Given the description of an element on the screen output the (x, y) to click on. 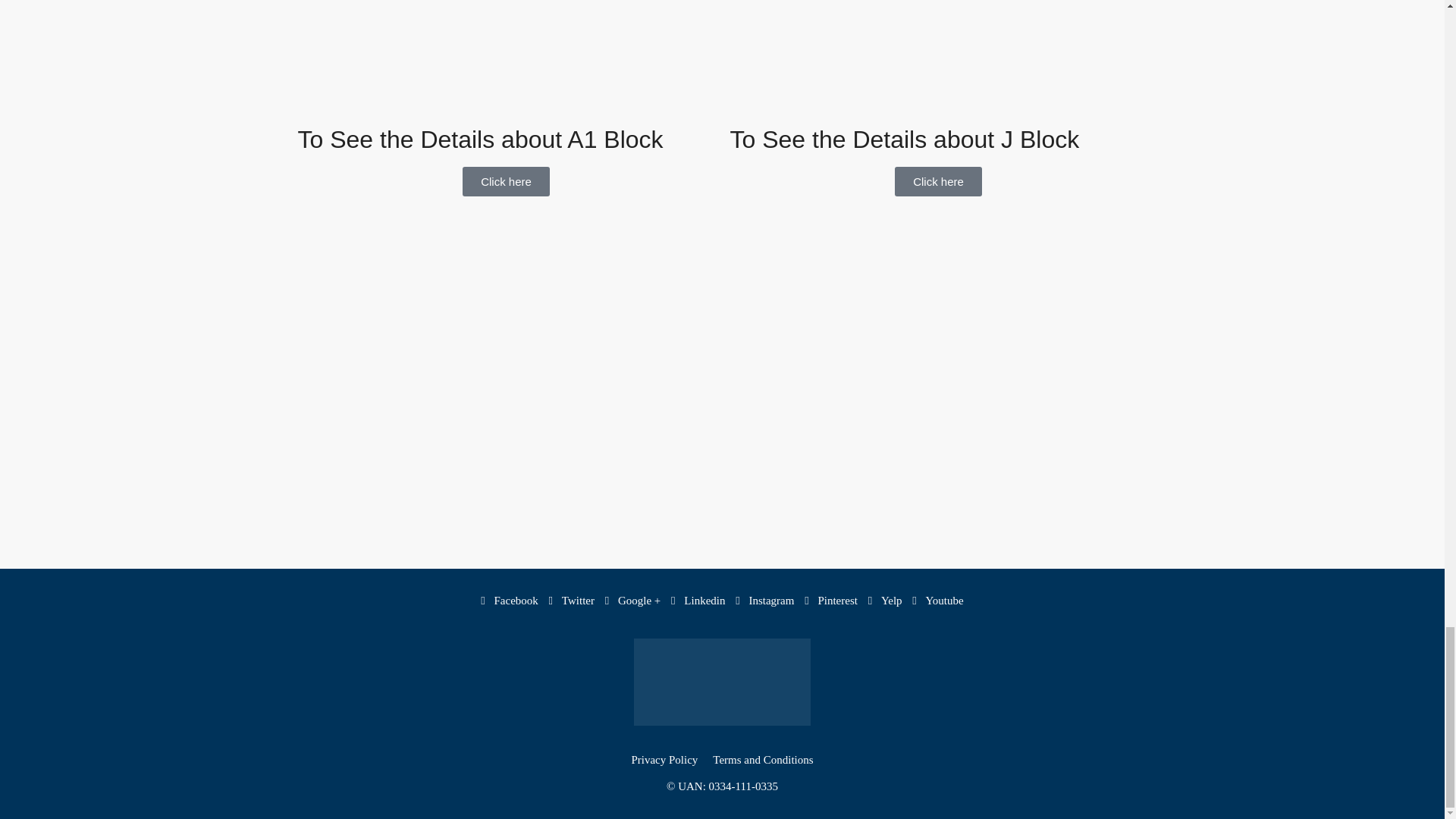
Pinterest (832, 600)
Instagram (765, 600)
Click here (506, 181)
Facebook (510, 600)
Youtube (937, 600)
Linkedin (699, 600)
Click here (938, 181)
Twitter (572, 600)
Yelp (886, 600)
